Given the description of an element on the screen output the (x, y) to click on. 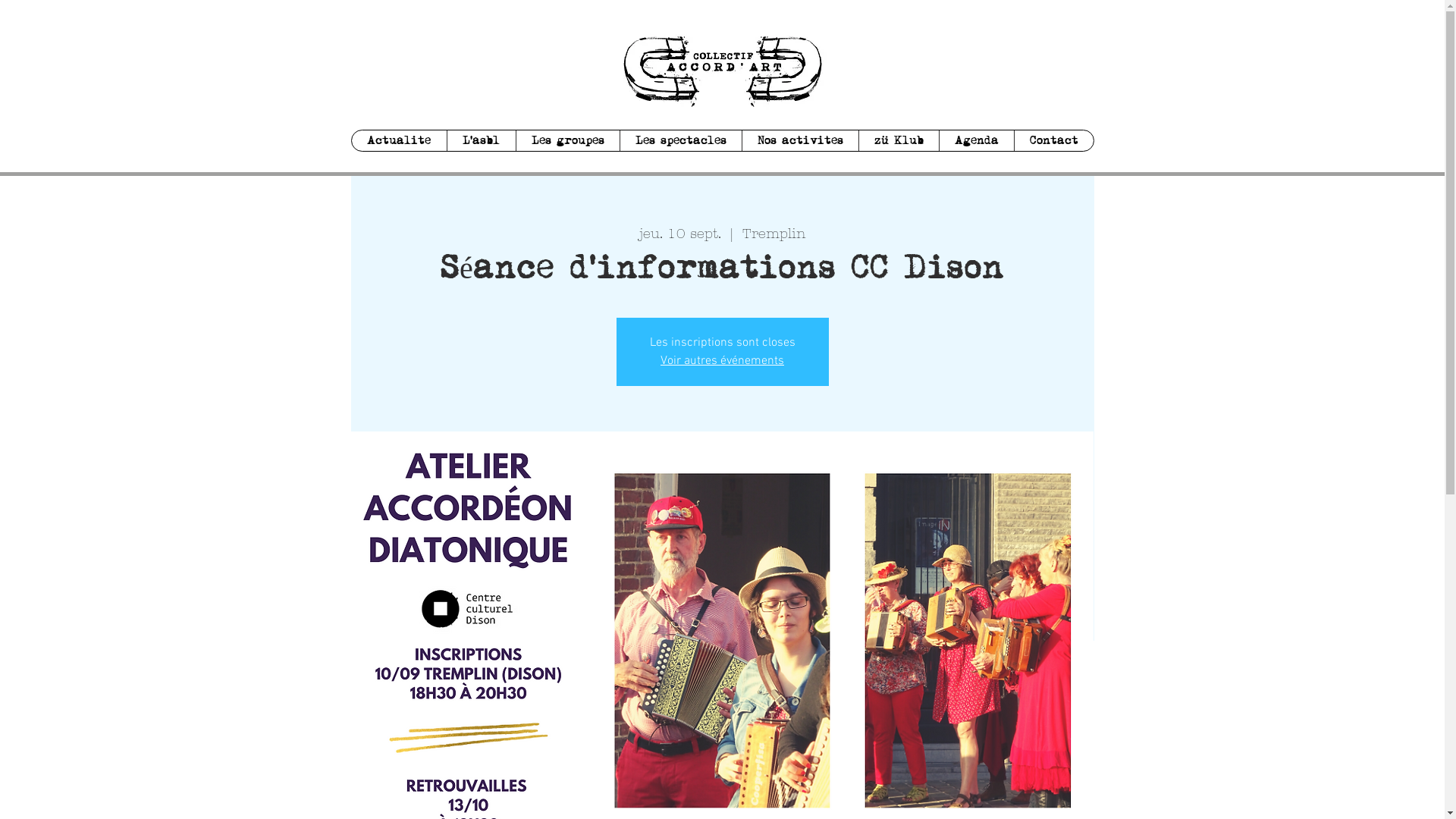
Les groupes Element type: text (567, 140)
Agenda Element type: text (975, 140)
Actualite Element type: text (398, 140)
Contact Element type: text (1052, 140)
Les spectacles Element type: text (679, 140)
Nos activites Element type: text (799, 140)
L'asbl Element type: text (479, 140)
